Given the description of an element on the screen output the (x, y) to click on. 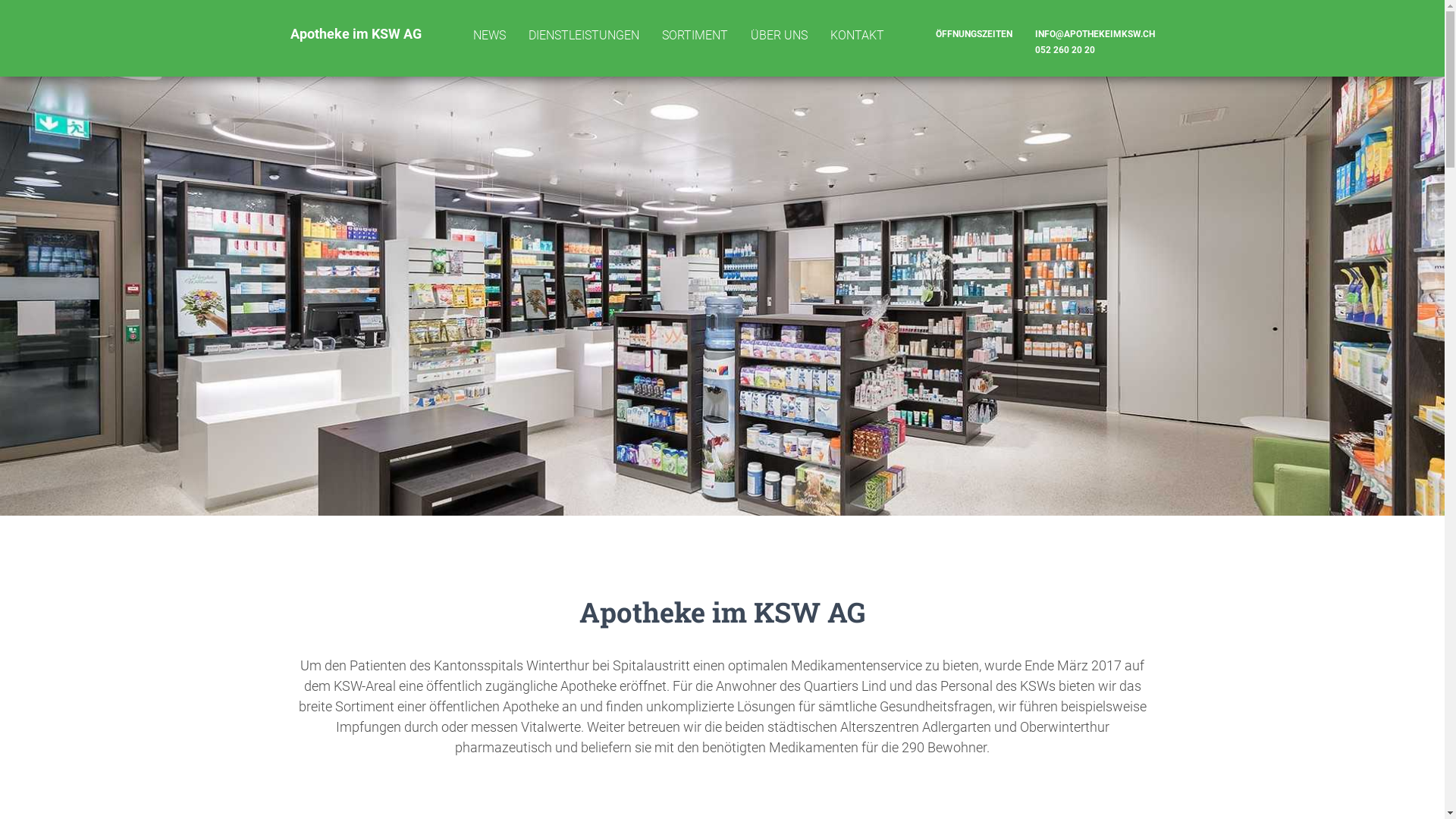
052 260 20 20 Element type: text (1094, 50)
SORTIMENT Element type: text (694, 35)
Apotheke im KSW AG Element type: text (356, 34)
INFO@APOTHEKEIMKSW.CH Element type: text (1094, 34)
NEWS Element type: text (488, 35)
KONTAKT Element type: text (857, 35)
DIENSTLEISTUNGEN Element type: text (583, 35)
